Given the description of an element on the screen output the (x, y) to click on. 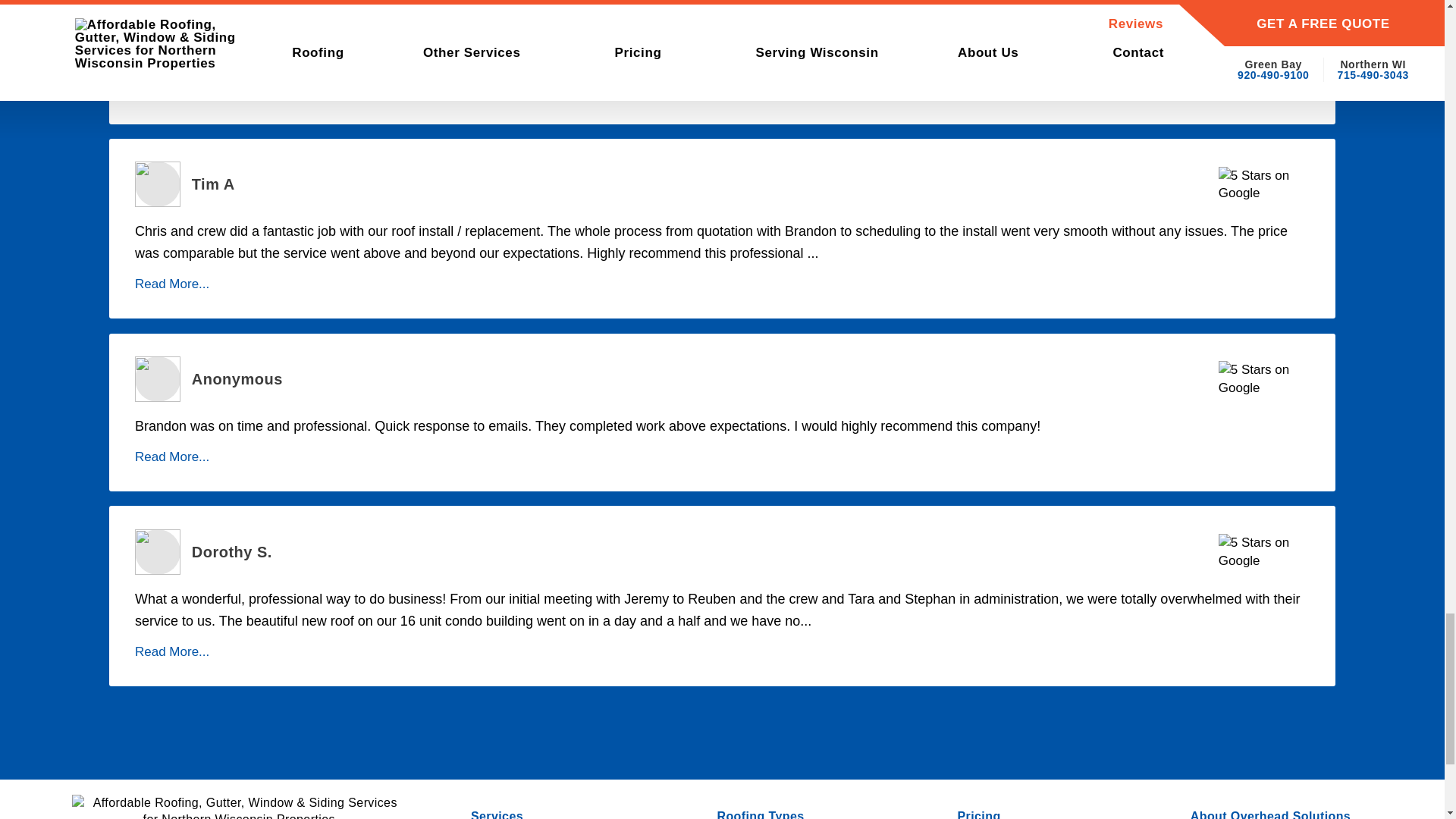
Read More... (172, 651)
Services (496, 813)
Read More... (172, 284)
See more satisfied customer reviews (157, 6)
Read More... (172, 89)
Read More... (172, 456)
